Given the description of an element on the screen output the (x, y) to click on. 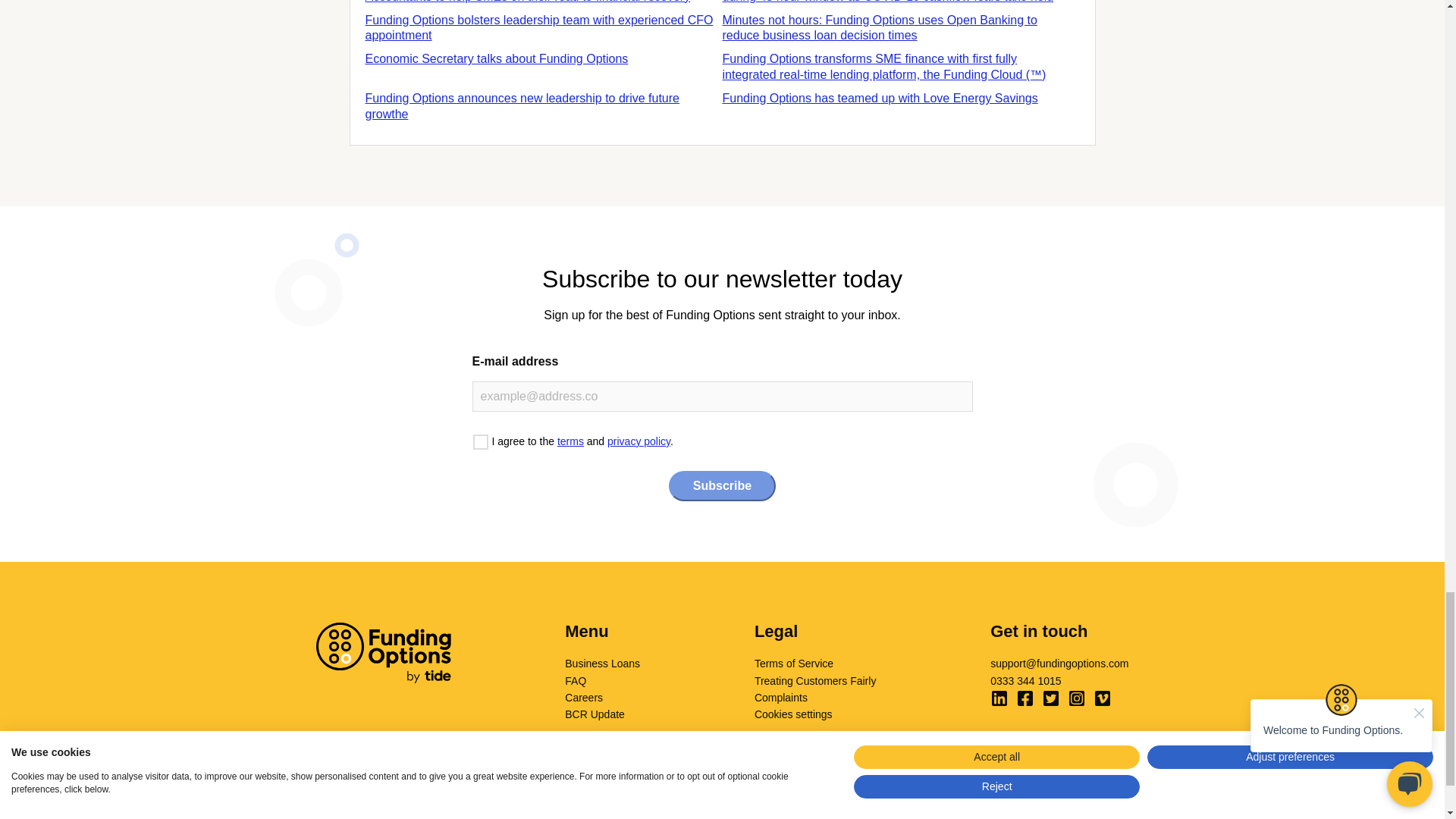
Navigate to Funding Options Instagram (1076, 698)
Navigate to Funding Options Facebook (1024, 698)
Navigate to Funding Options LinkedIn (999, 698)
Funding Options (382, 652)
Navigate to Funding Options Twitter (1050, 698)
